Given the description of an element on the screen output the (x, y) to click on. 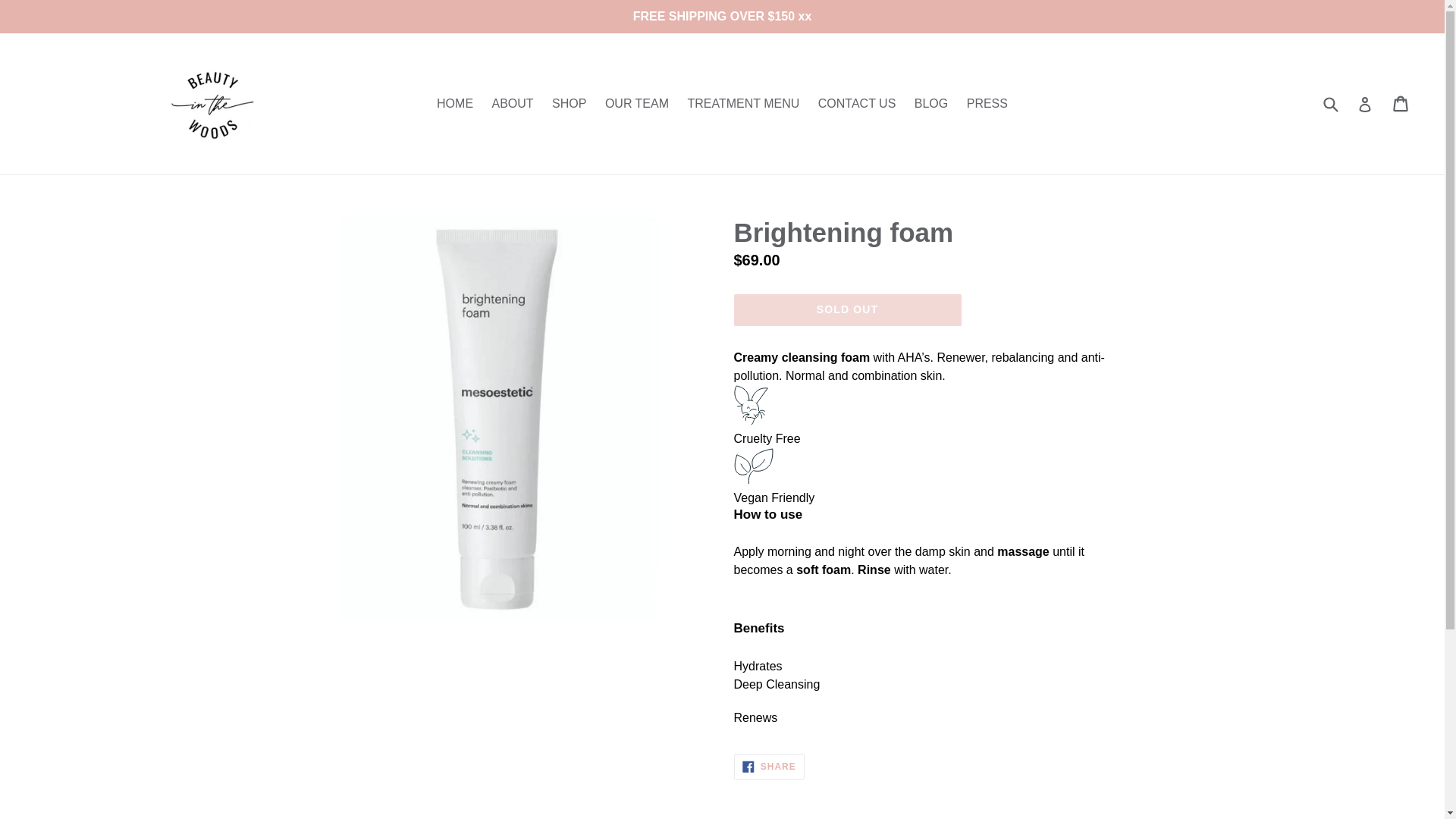
Log in (1401, 103)
CONTACT US (1364, 103)
HOME (857, 103)
Share on Facebook (454, 103)
ABOUT (769, 766)
Submit (511, 103)
TREATMENT MENU (1329, 102)
PRESS (742, 103)
SHOP (769, 766)
SOLD OUT (986, 103)
OUR TEAM (569, 103)
BLOG (846, 309)
